Given the description of an element on the screen output the (x, y) to click on. 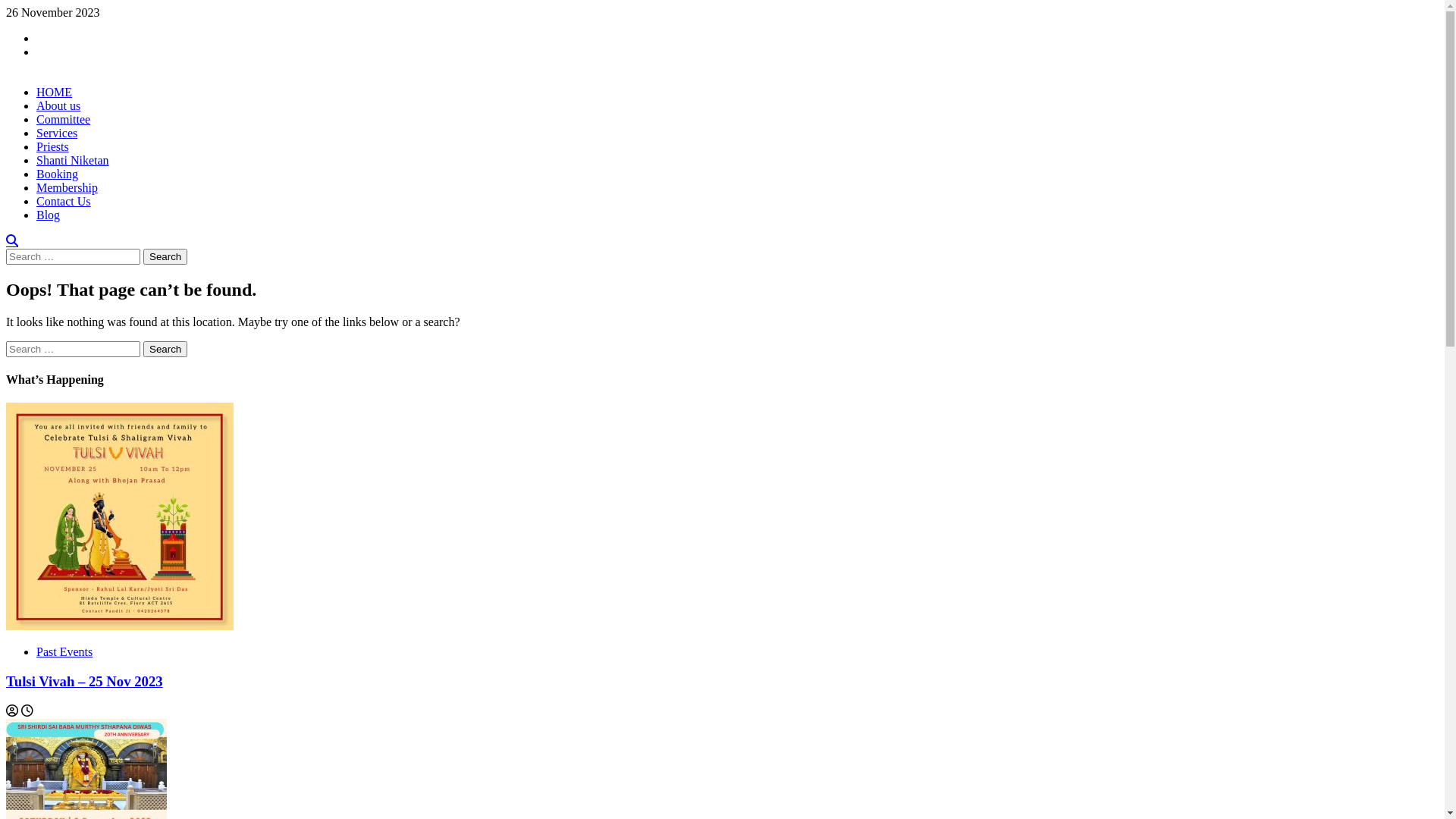
Booking Element type: text (57, 173)
Past Events Element type: text (64, 651)
Shanti Niketan Element type: text (72, 159)
Blog Element type: text (47, 214)
Priests Element type: text (52, 146)
Search Element type: text (165, 349)
Services Element type: text (56, 132)
Search Element type: text (165, 256)
Contact Us Element type: text (63, 200)
Skip to content Element type: text (5, 5)
About us Element type: text (58, 105)
Search Element type: hover (12, 241)
HOME Element type: text (54, 91)
Committee Element type: text (63, 118)
Membership Element type: text (66, 187)
